Given the description of an element on the screen output the (x, y) to click on. 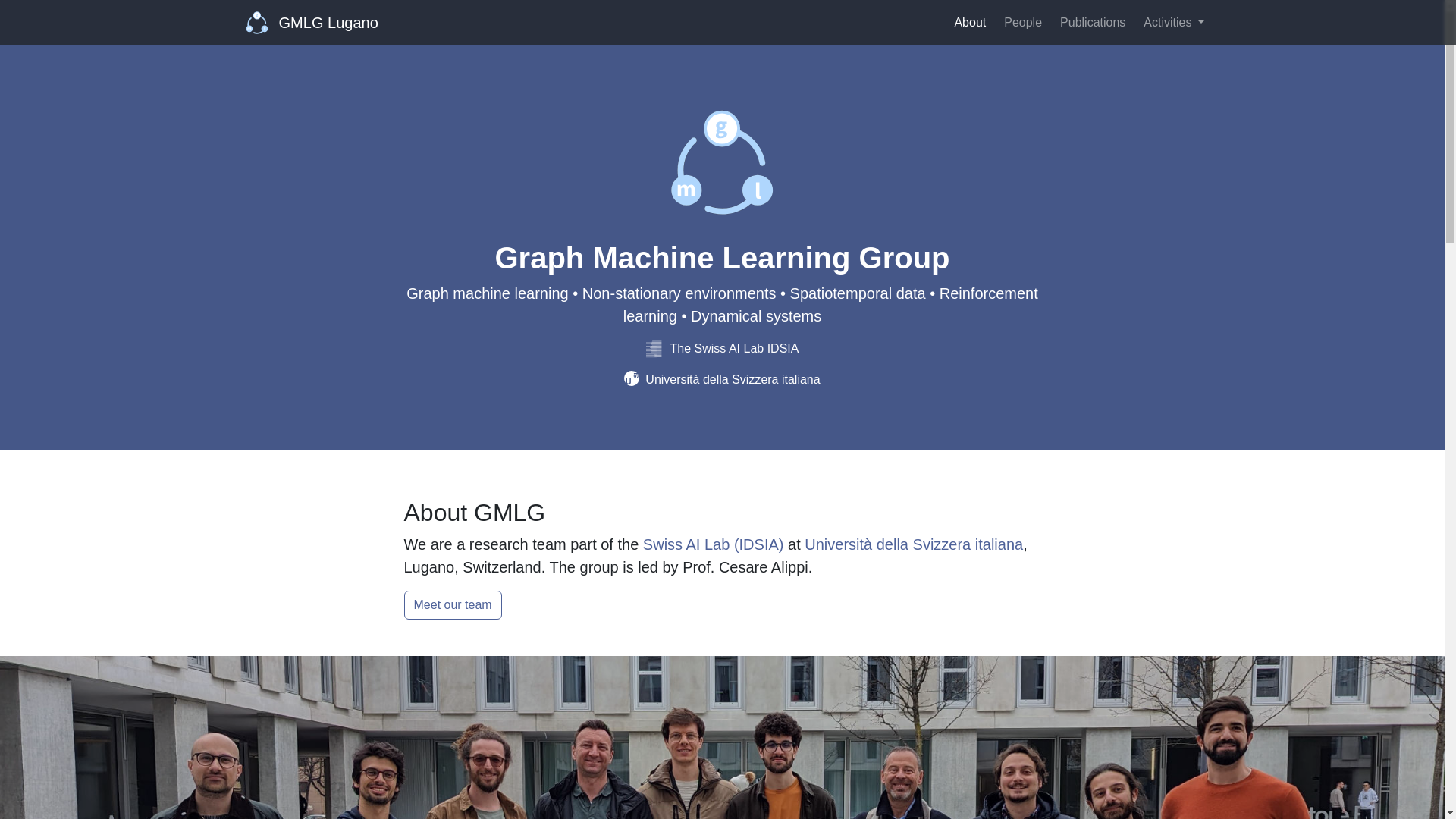
Meet our team (451, 604)
Publications (1092, 22)
Activities (1173, 22)
The Swiss AI Lab IDSIA (722, 348)
About (969, 22)
GMLG Lugano (312, 22)
People (1022, 22)
